Given the description of an element on the screen output the (x, y) to click on. 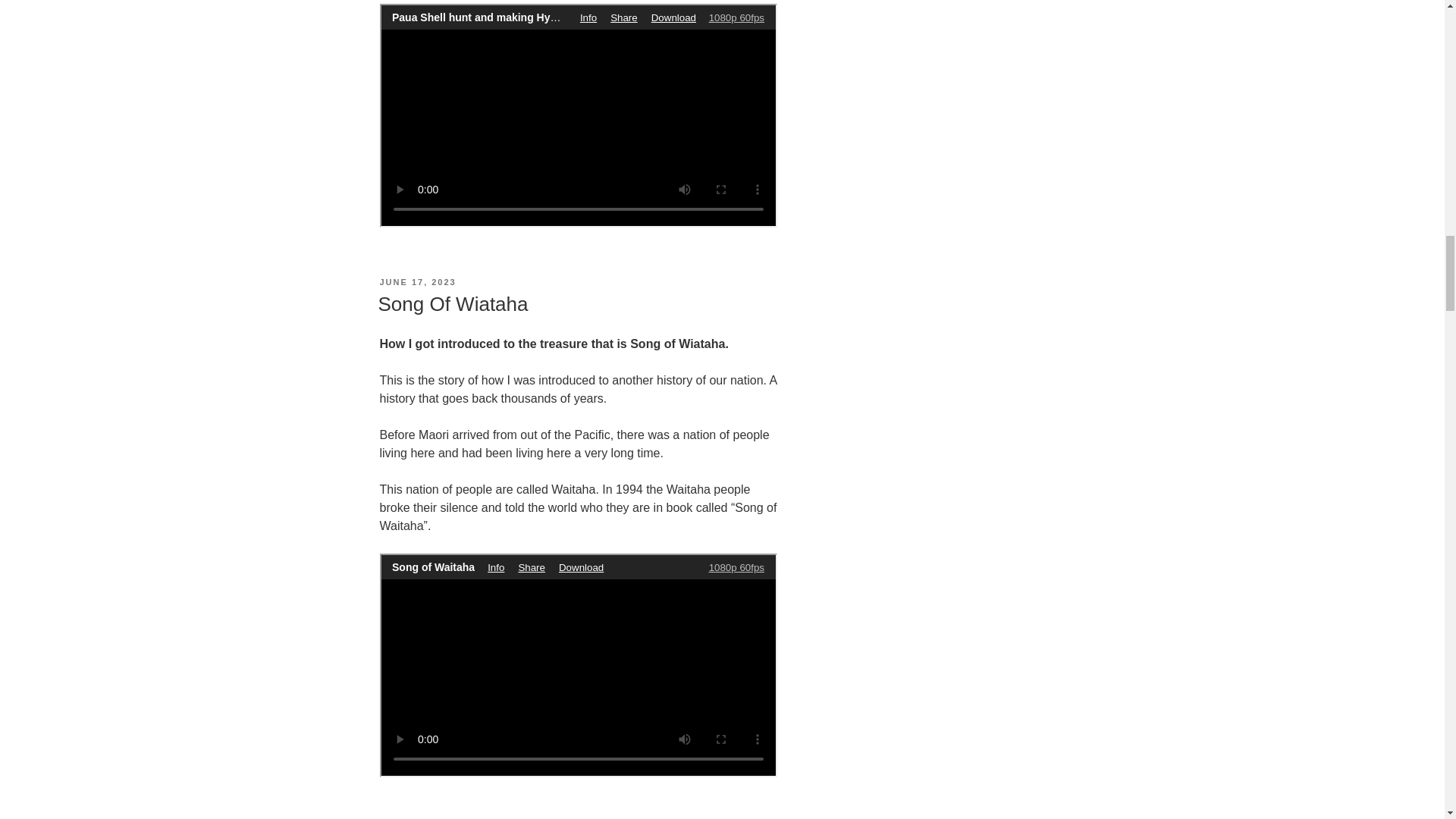
Song Of Wiataha (452, 303)
JUNE 17, 2023 (416, 281)
